Given the description of an element on the screen output the (x, y) to click on. 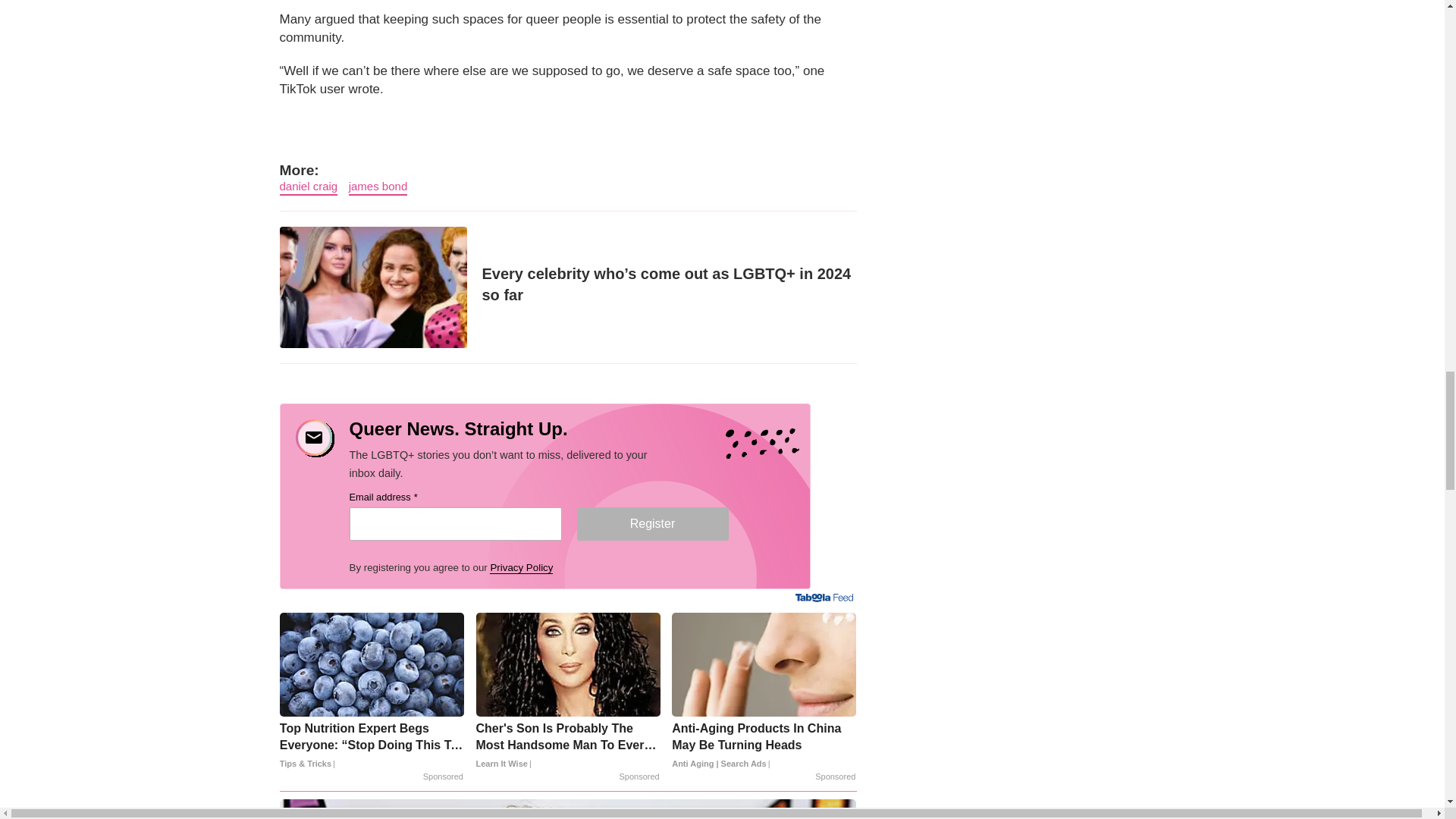
Cher's Son Is Probably The Most Handsome Man To Ever Exist (568, 746)
